Given the description of an element on the screen output the (x, y) to click on. 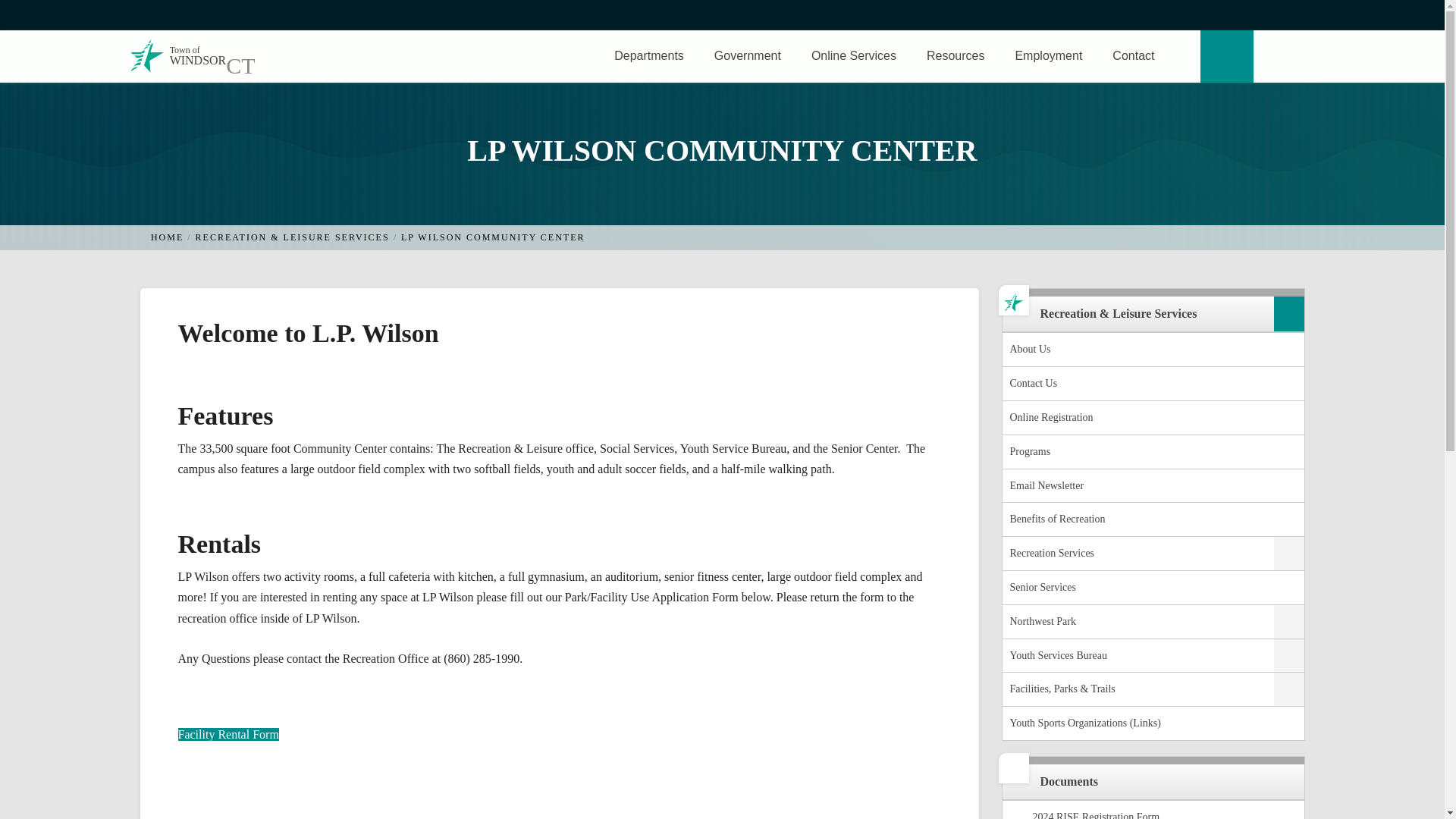
Go to townofwindsorct.com (178, 56)
Government (167, 236)
Go to LP Wilson Community Center (747, 56)
Departments (493, 236)
